Given the description of an element on the screen output the (x, y) to click on. 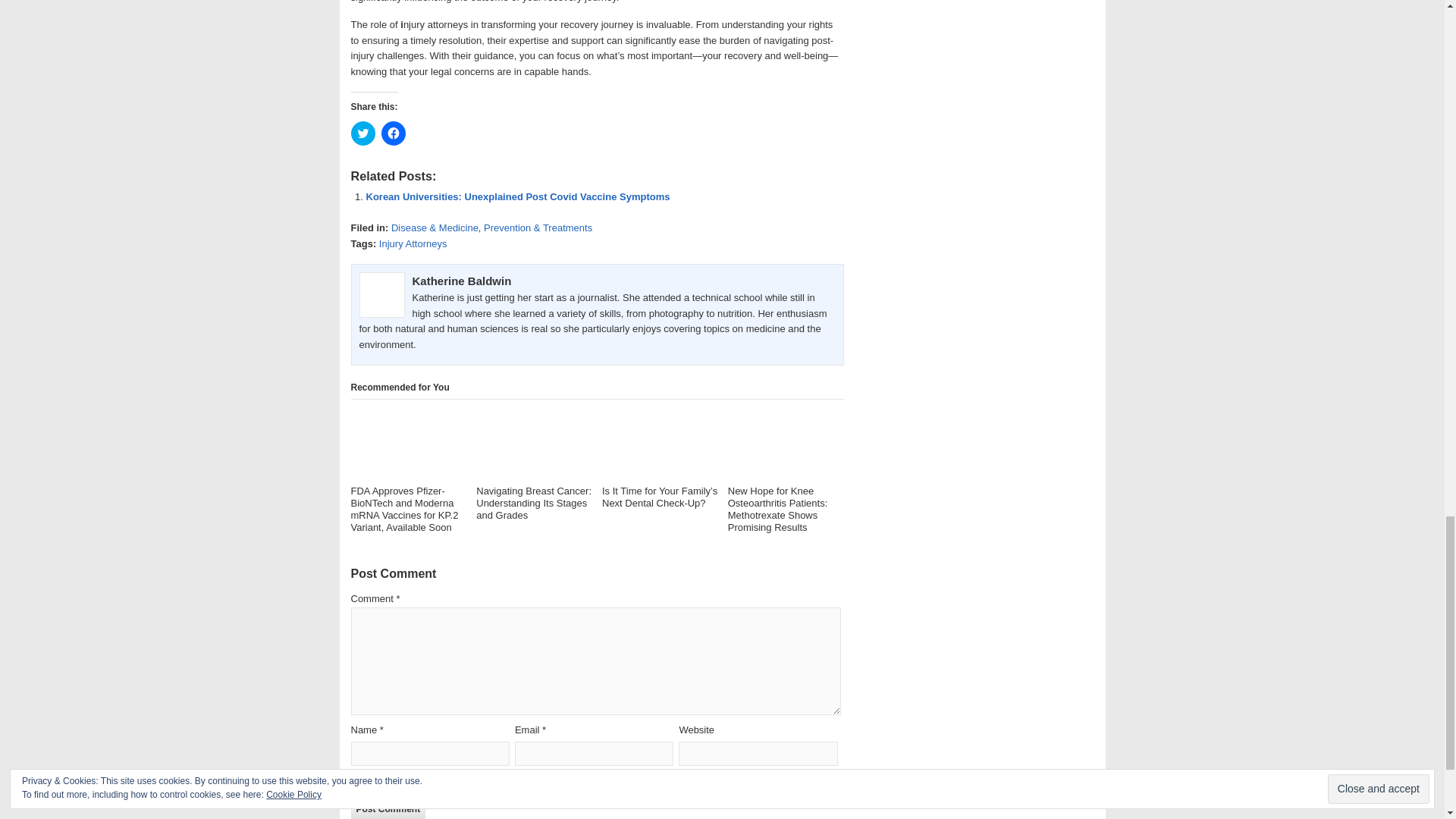
Post Comment (387, 807)
Korean Universities: Unexplained Post Covid Vaccine Symptoms (517, 196)
Click to share on Twitter (362, 133)
Click to share on Facebook (392, 133)
